Given the description of an element on the screen output the (x, y) to click on. 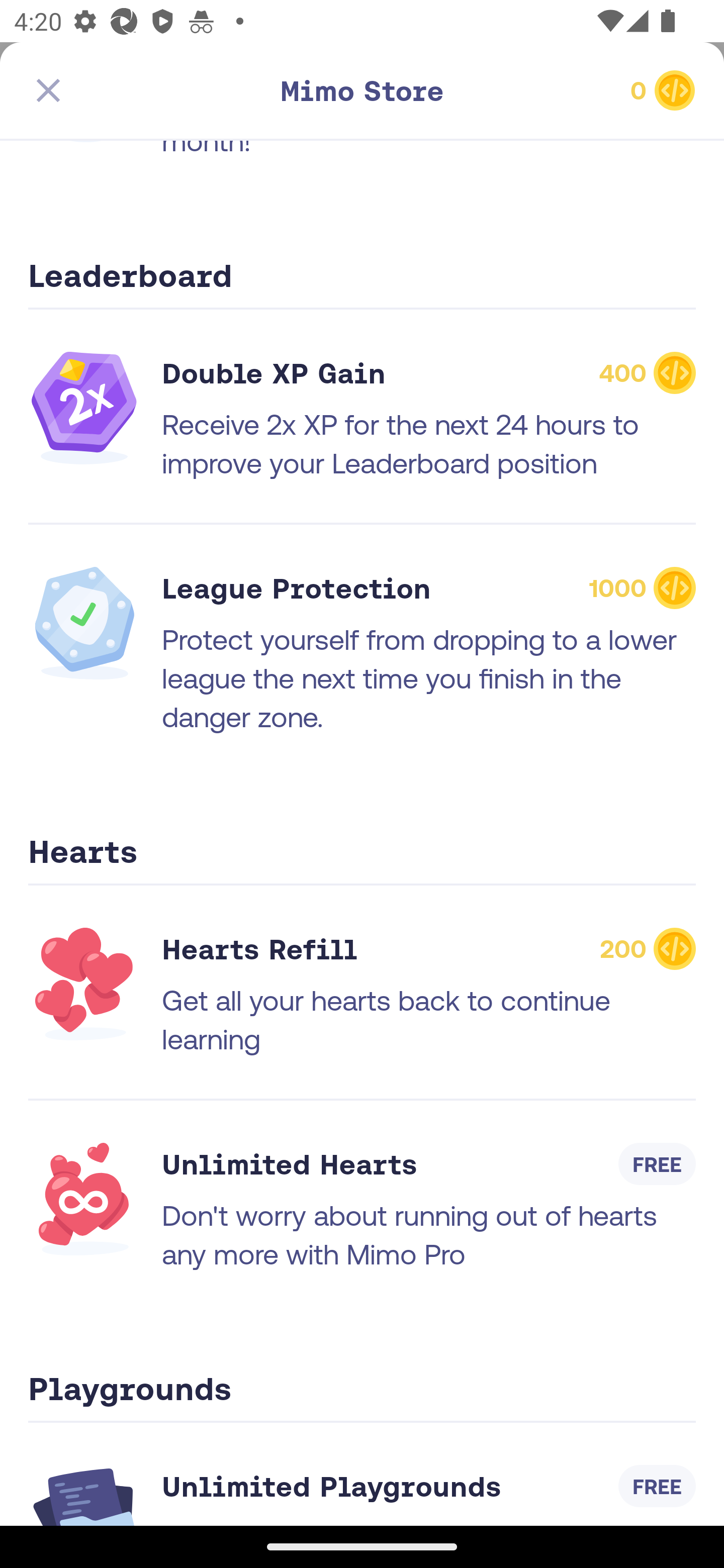
Path Toolbar Image 4 (134, 90)
Path Toolbar Image 0 (361, 90)
Path Toolbar Image 0 (588, 90)
Profile (633, 1475)
